Given the description of an element on the screen output the (x, y) to click on. 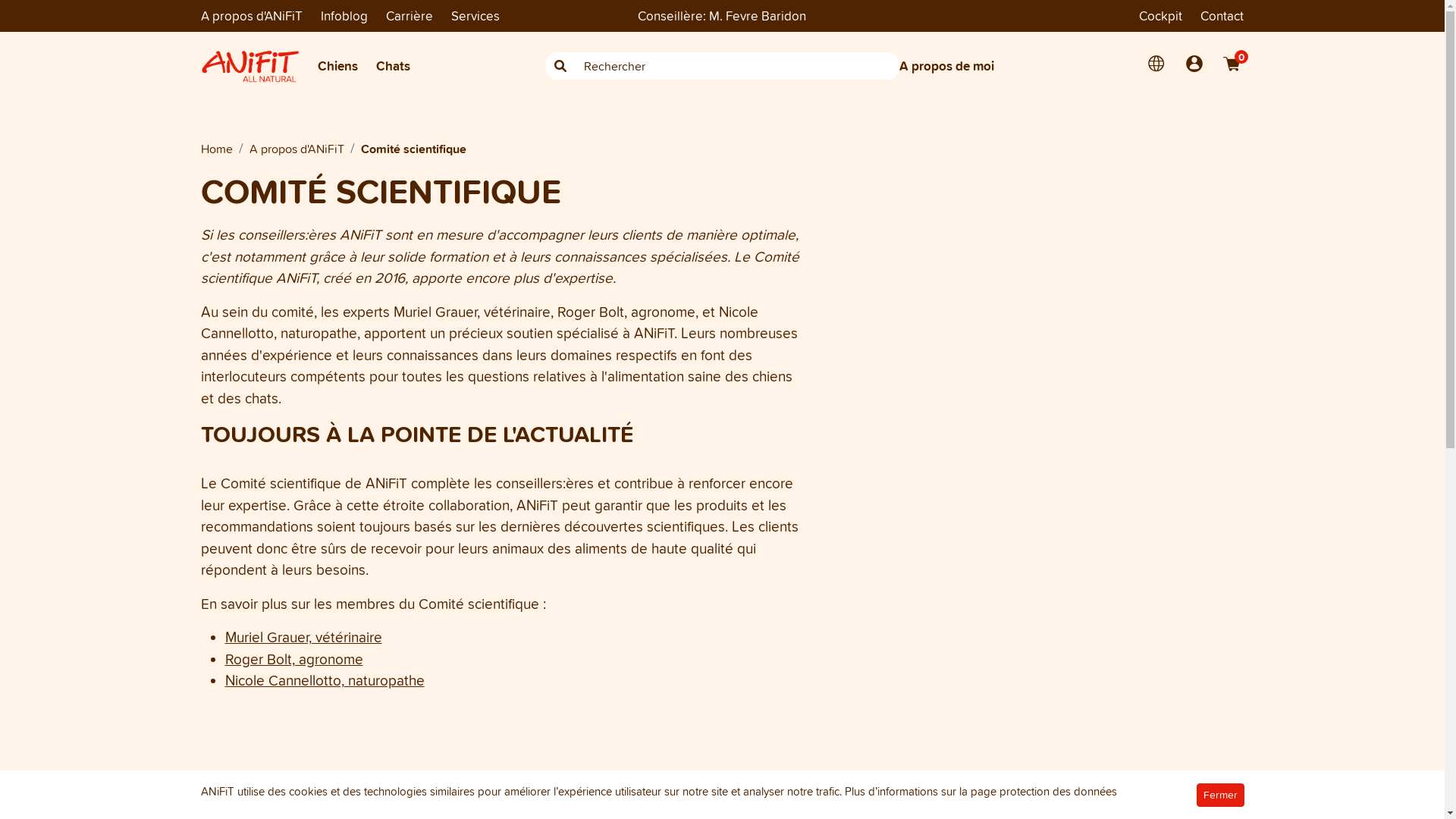
Cockpit Element type: text (1160, 15)
A propos de moi Element type: text (1021, 65)
Contact Element type: text (1221, 15)
Chats Element type: text (393, 65)
Chiens Element type: text (336, 65)
Nicole Cannellotto, naturopathe Element type: text (323, 679)
A propos d'ANiFiT Element type: text (295, 147)
Home Element type: text (216, 147)
Roger Bolt, agronome Element type: text (293, 658)
Fermer Element type: text (1220, 794)
0 Element type: text (1230, 63)
A propos d'ANiFiT Element type: text (250, 15)
Services Element type: text (474, 15)
Infoblog Element type: text (343, 15)
